Given the description of an element on the screen output the (x, y) to click on. 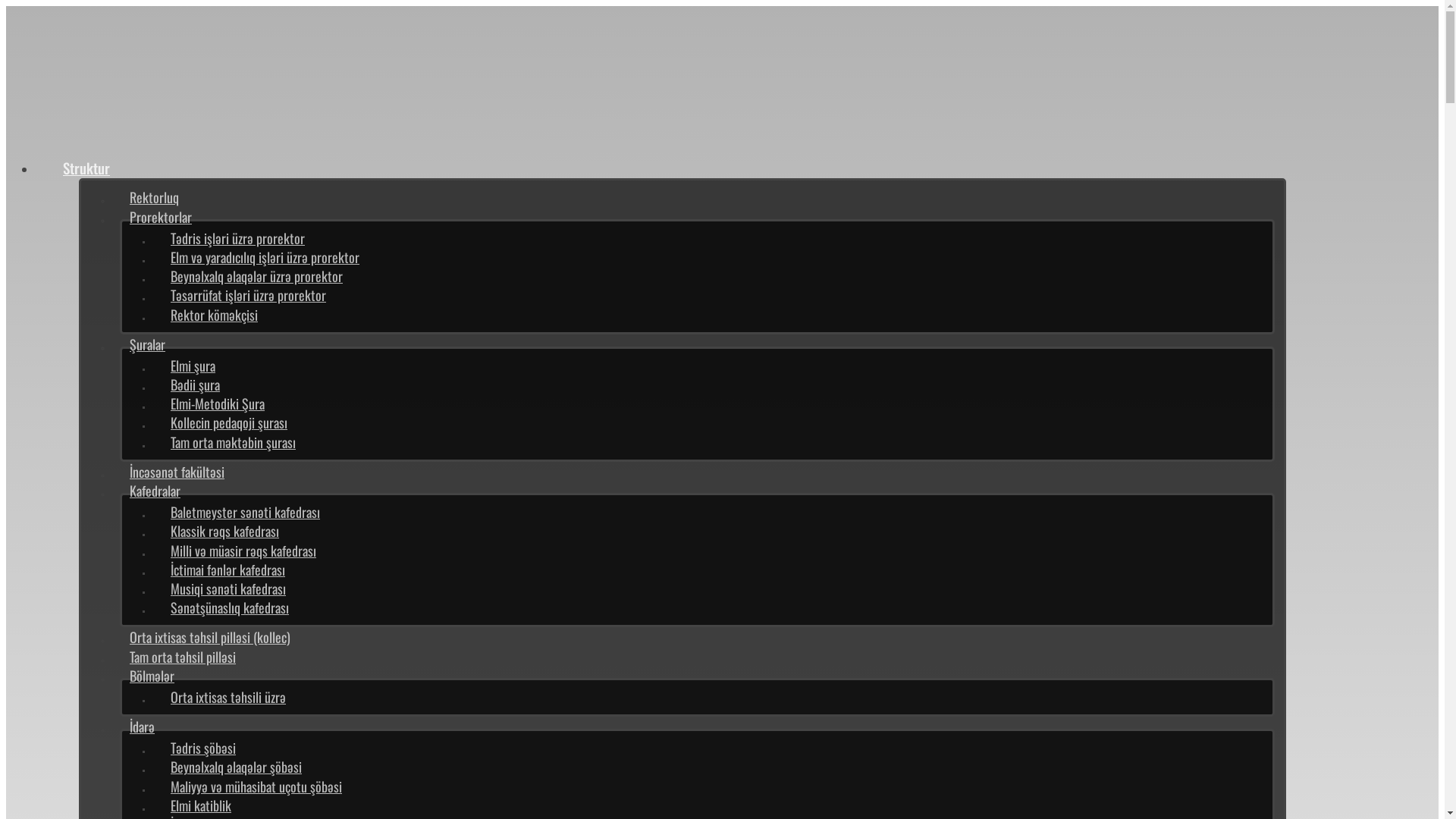
Prorektorlar Element type: text (160, 216)
Kafedralar Element type: text (155, 490)
Rektorluq Element type: text (154, 197)
Struktur Element type: text (85, 167)
